Given the description of an element on the screen output the (x, y) to click on. 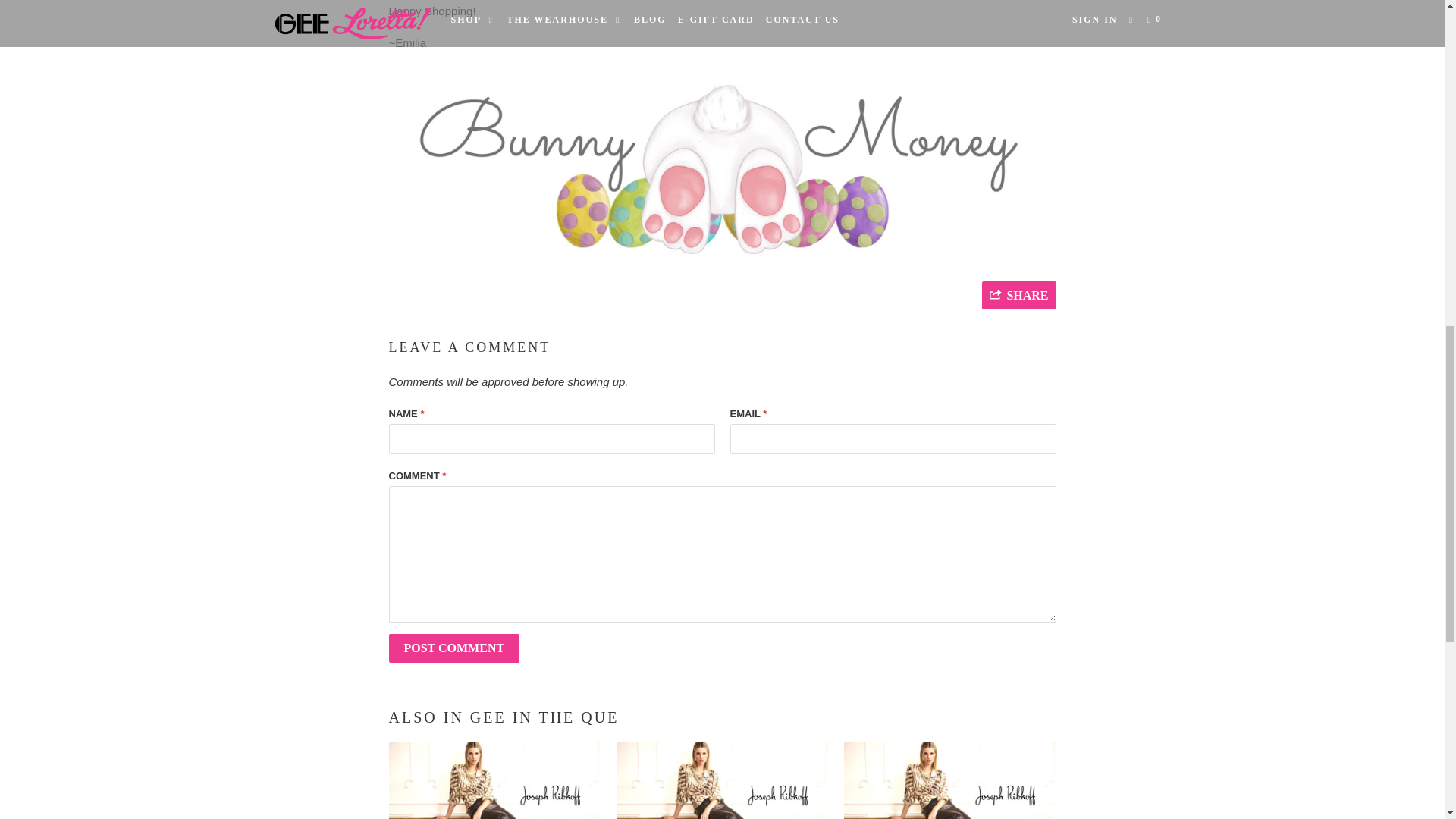
Post comment (453, 647)
